Given the description of an element on the screen output the (x, y) to click on. 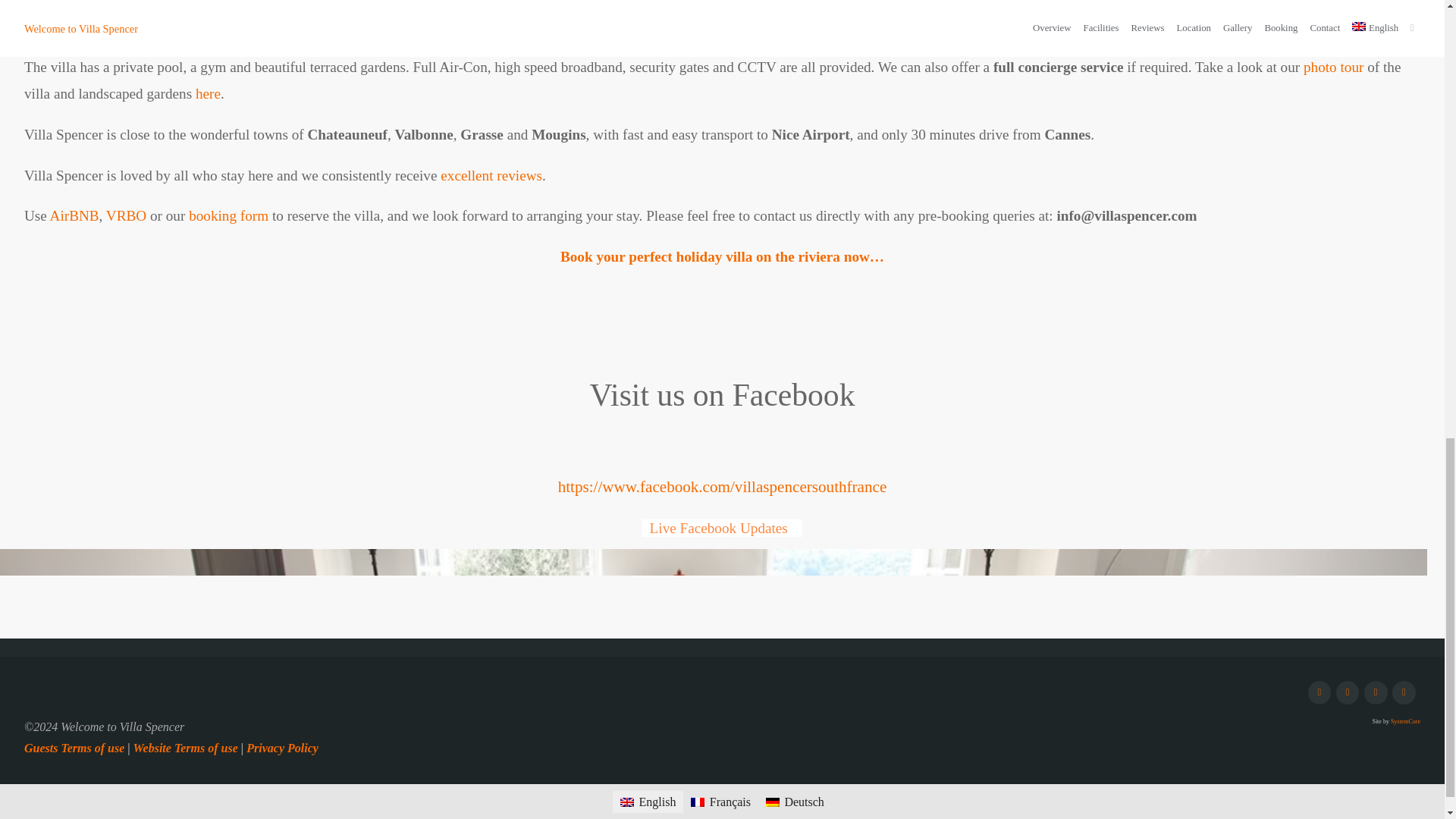
Facebook (1319, 692)
six bedroom (282, 26)
excellent reviews (491, 175)
Email (1375, 692)
Le Bar sur Loup (521, 26)
Instagram (1347, 692)
booking form (228, 215)
SystemCore (1405, 721)
AirBNB (74, 215)
photo tour (1332, 66)
